Given the description of an element on the screen output the (x, y) to click on. 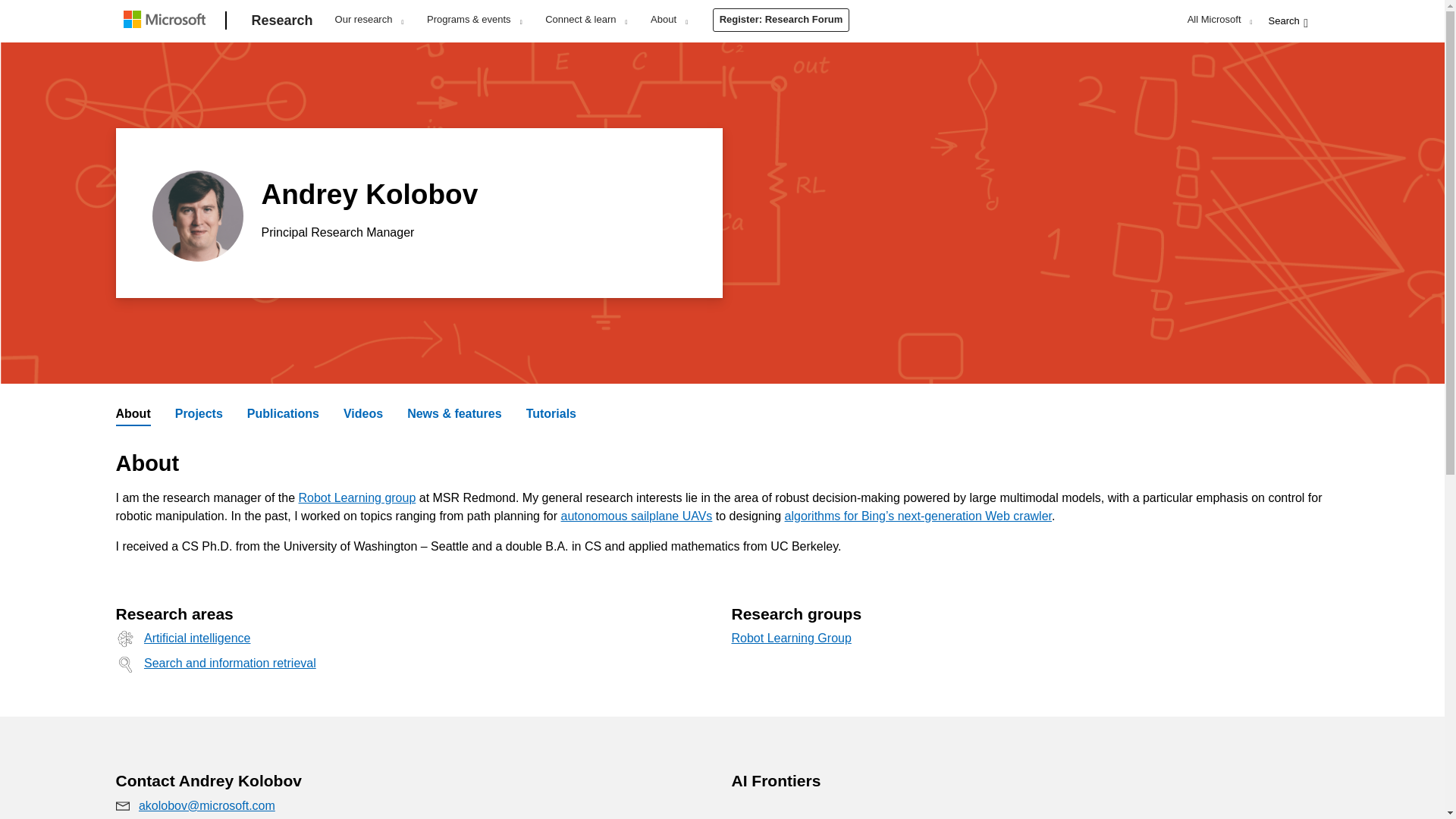
Our research (368, 18)
Microsoft (167, 20)
Research (282, 20)
